Given the description of an element on the screen output the (x, y) to click on. 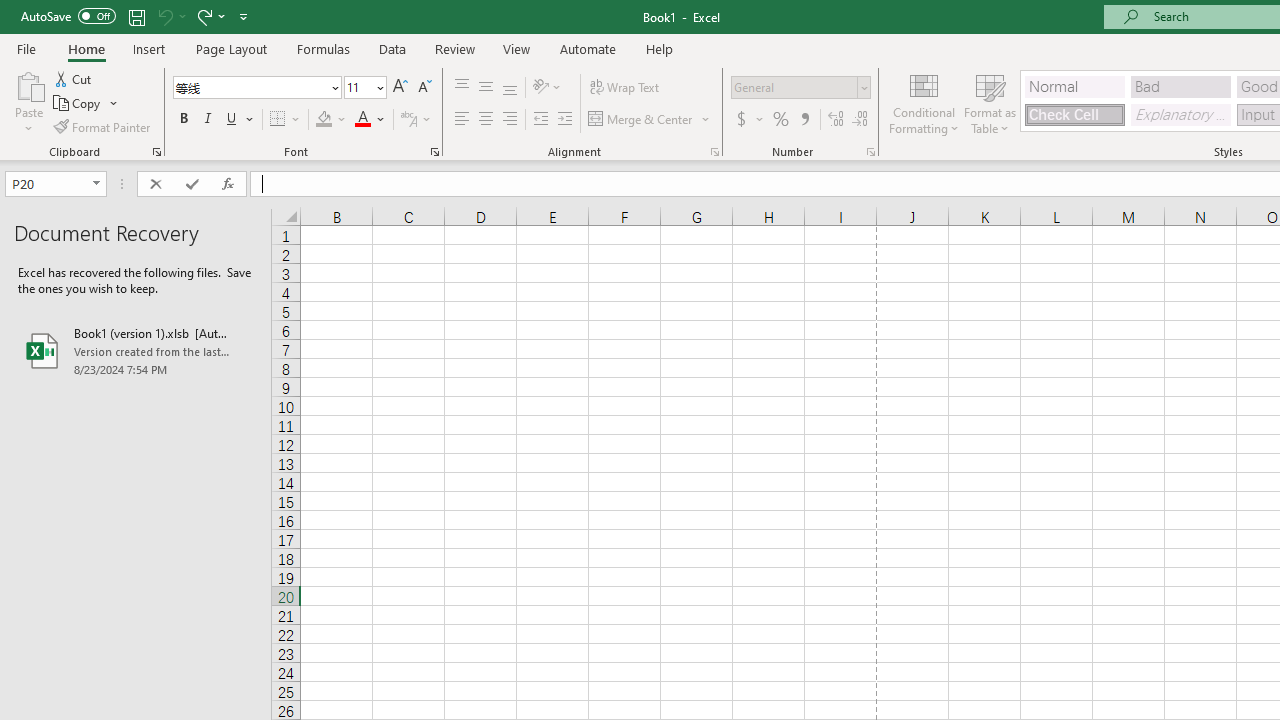
Orientation (547, 87)
Font Size (358, 87)
Cut (73, 78)
Font (250, 87)
Format Cell Alignment (714, 151)
Italic (207, 119)
Explanatory Text (1180, 114)
